Given the description of an element on the screen output the (x, y) to click on. 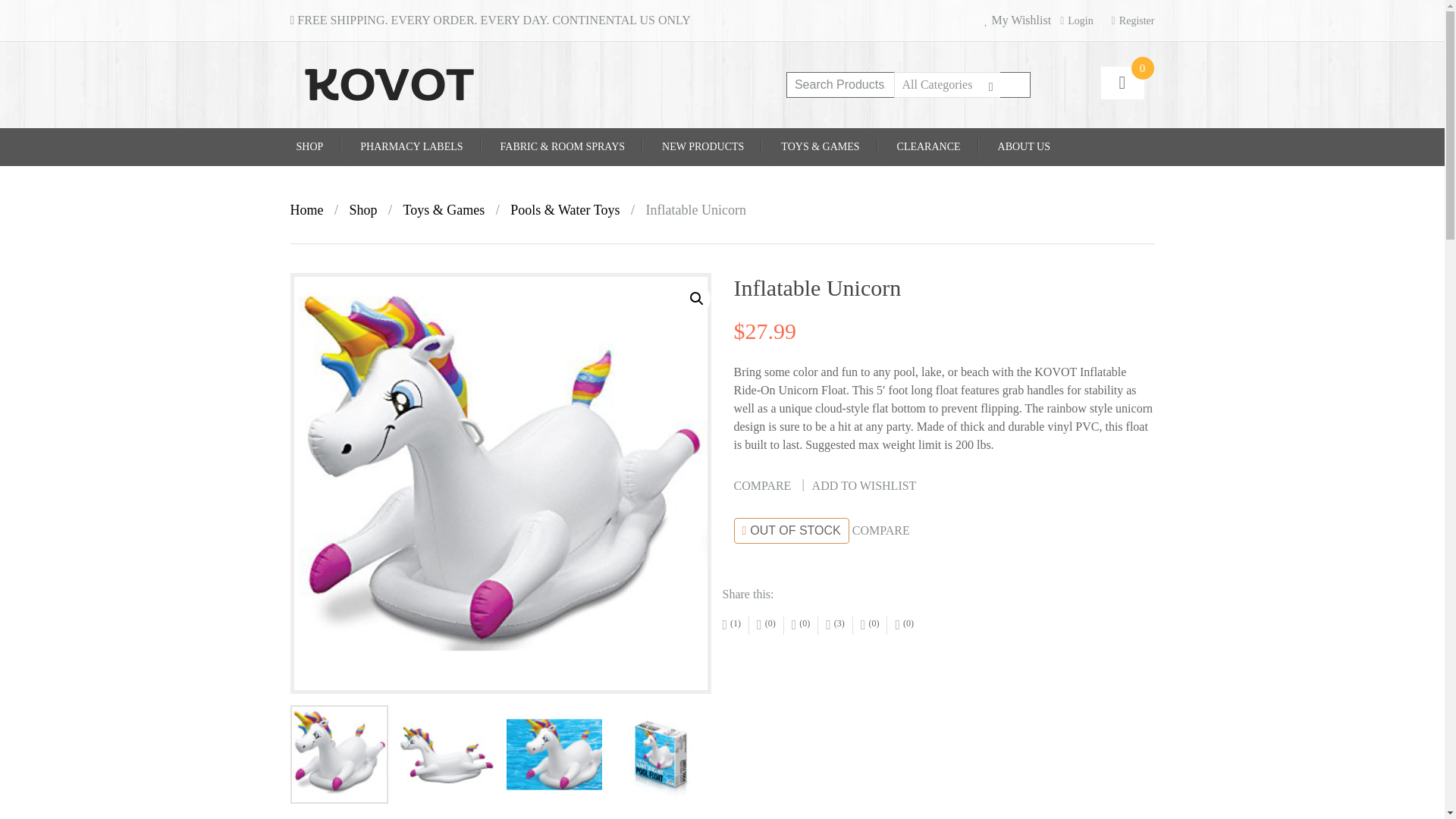
KOVOT (389, 82)
Home (306, 209)
Find (1013, 84)
FREE SHIPPING. EVERY ORDER. EVERY DAY. CONTINENTAL US ONLY (489, 19)
ADD TO WISHLIST (864, 485)
My Wishlist (1017, 19)
CLEARANCE (928, 146)
PHARMACY LABELS (411, 146)
Shop (363, 209)
Register (1133, 20)
COMPARE (762, 485)
ABOUT US (1024, 146)
My Wishlist (1017, 19)
Login (1076, 20)
SHOP (309, 146)
